Given the description of an element on the screen output the (x, y) to click on. 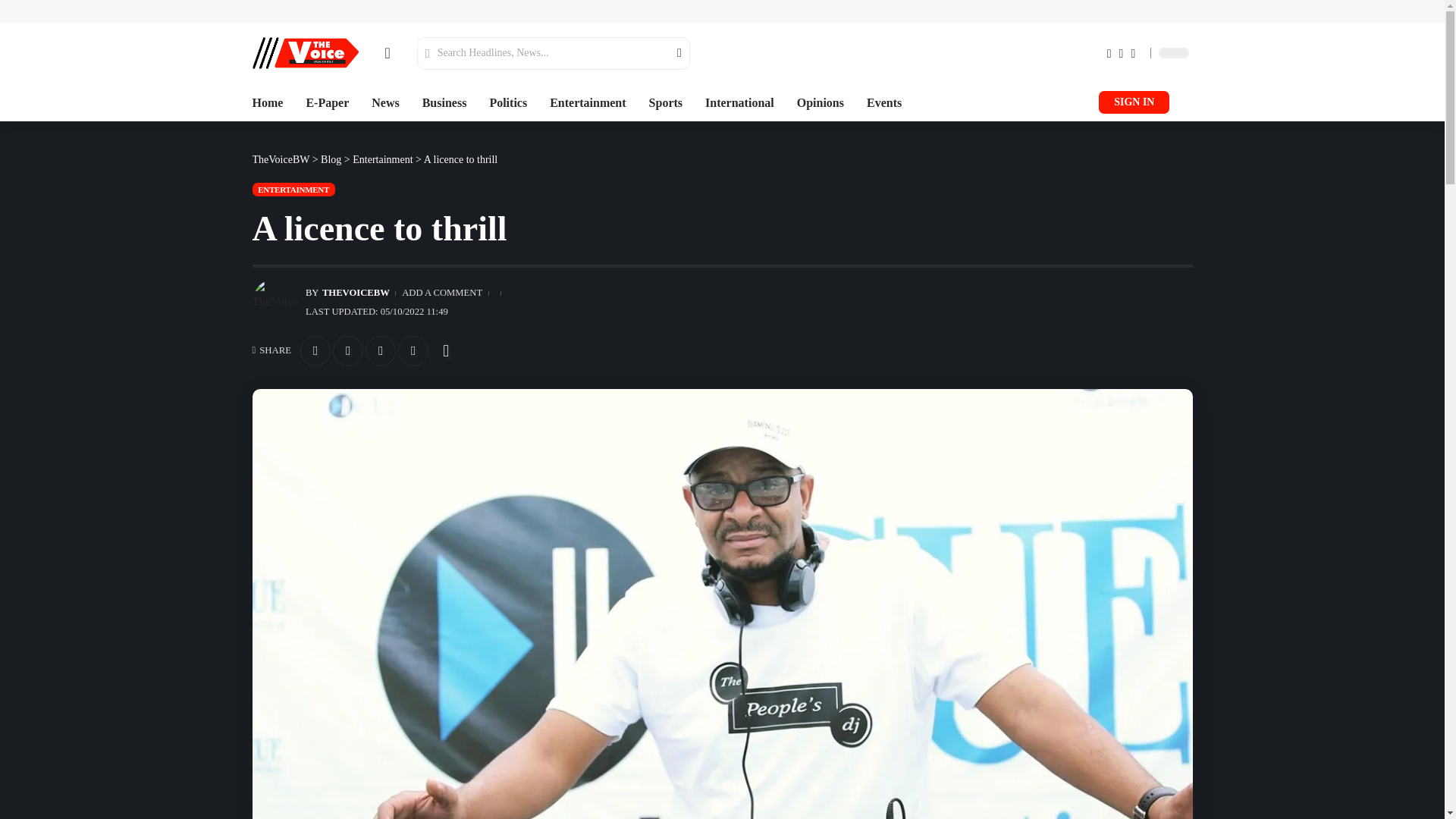
International (739, 102)
Go to TheVoiceBW. (279, 159)
Go to Blog. (330, 159)
E-Paper (327, 102)
Go to the Entertainment Category archives. (382, 159)
Business (444, 102)
Events (883, 102)
Politics (508, 102)
Opinions (820, 102)
News (384, 102)
Sports (665, 102)
Home (266, 102)
SIGN IN (1134, 101)
Entertainment (588, 102)
Search (669, 52)
